Given the description of an element on the screen output the (x, y) to click on. 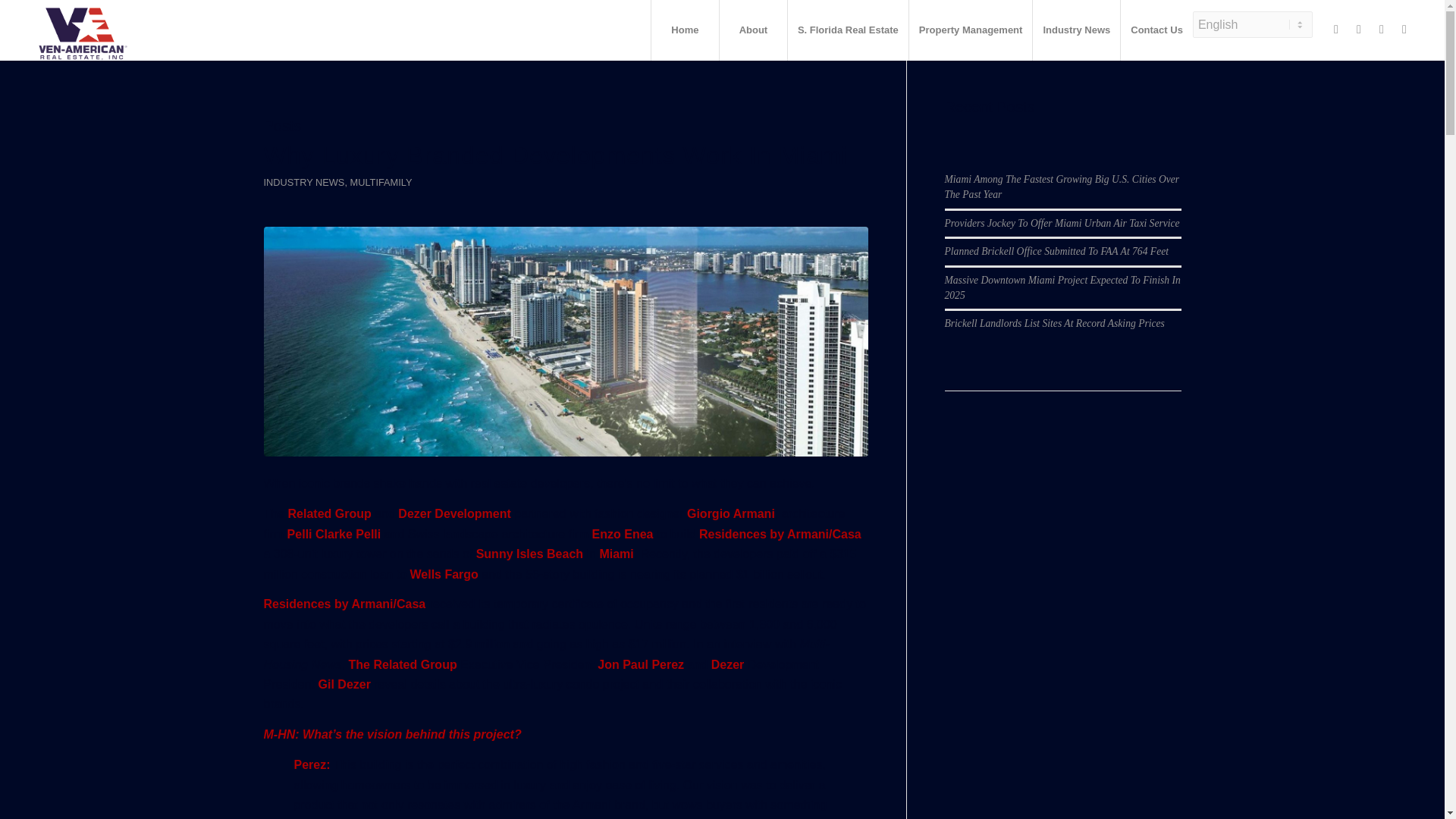
INDUSTRY NEWS (304, 182)
Property Management (970, 30)
Industry News (1075, 30)
MULTIFAMILY (381, 182)
S. Florida Real Estate (847, 30)
Massive Downtown Miami Project Expected To Finish In 2025 (1062, 243)
Facebook (1336, 29)
Providers Jockey To Offer Miami Urban Air Taxi Service (1061, 179)
Why Luxury Branded Developments Work In Miami (555, 154)
Brickell Landlords List Sites At Record Asking Prices (1054, 279)
